Given the description of an element on the screen output the (x, y) to click on. 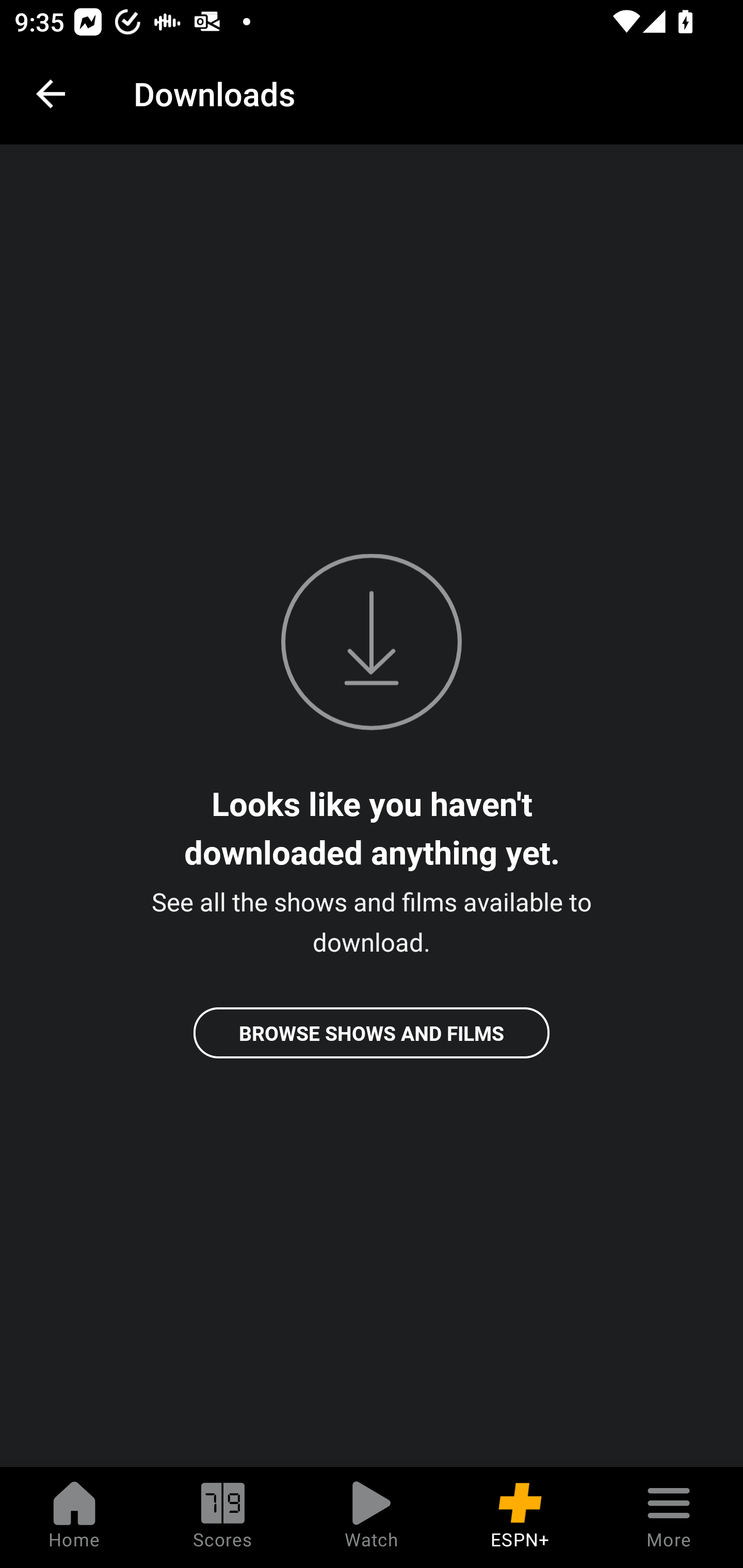
BROWSE SHOWS AND FILMS (371, 1032)
Home (74, 1517)
Scores (222, 1517)
Watch (371, 1517)
More (668, 1517)
